Given the description of an element on the screen output the (x, y) to click on. 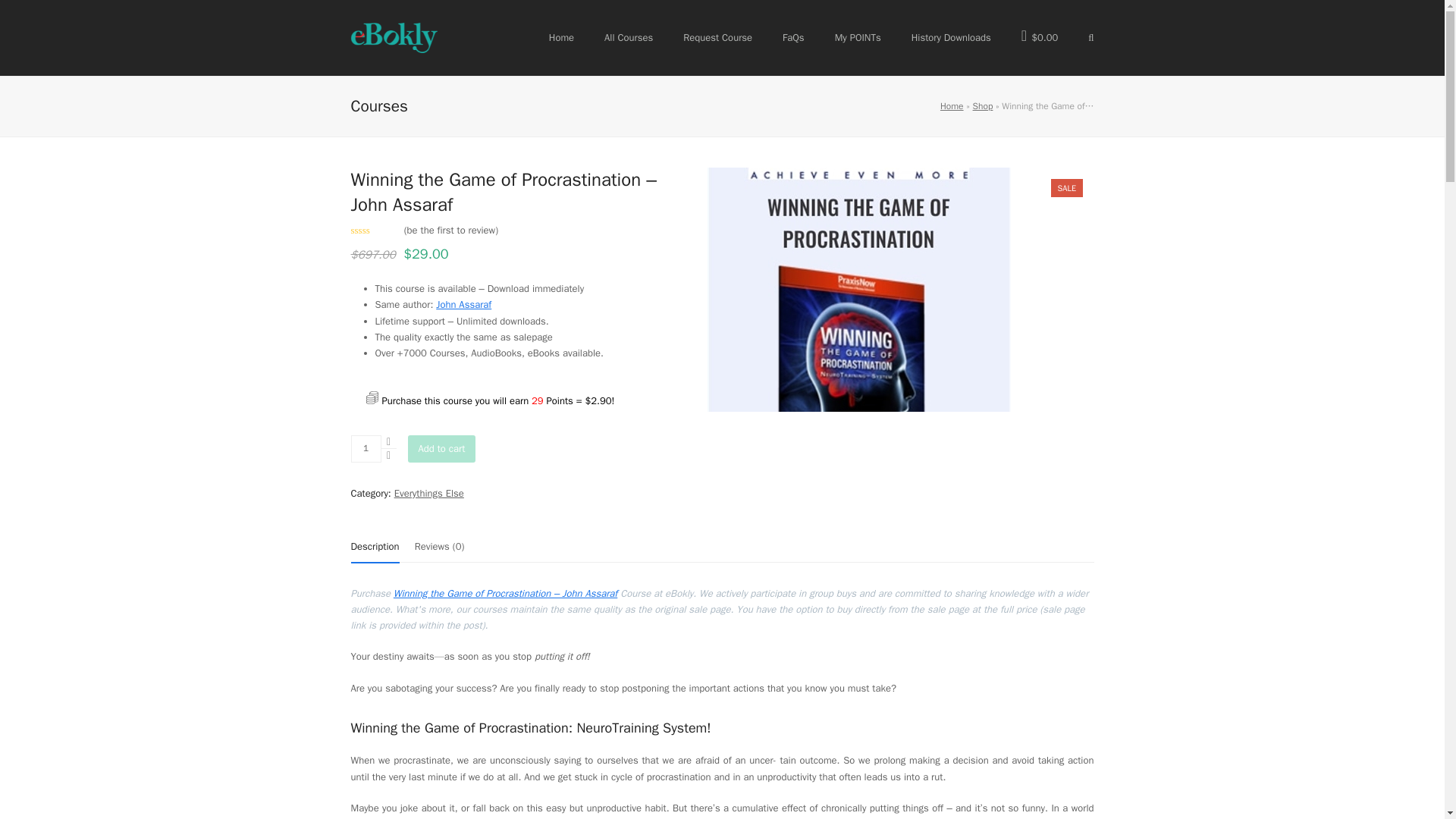
Shop (982, 105)
My POINTs (858, 37)
Add to cart (441, 448)
FaQs (793, 37)
Winning-the-Game-of-Procrastination-John-Assaraf.jpg (858, 289)
be the first to review (451, 230)
1 (365, 448)
All Courses (627, 37)
John Assaraf (463, 304)
Home (951, 105)
be the first to review (451, 230)
History Downloads (951, 37)
Everythings Else (429, 492)
Request Course (716, 37)
Description (374, 547)
